Given the description of an element on the screen output the (x, y) to click on. 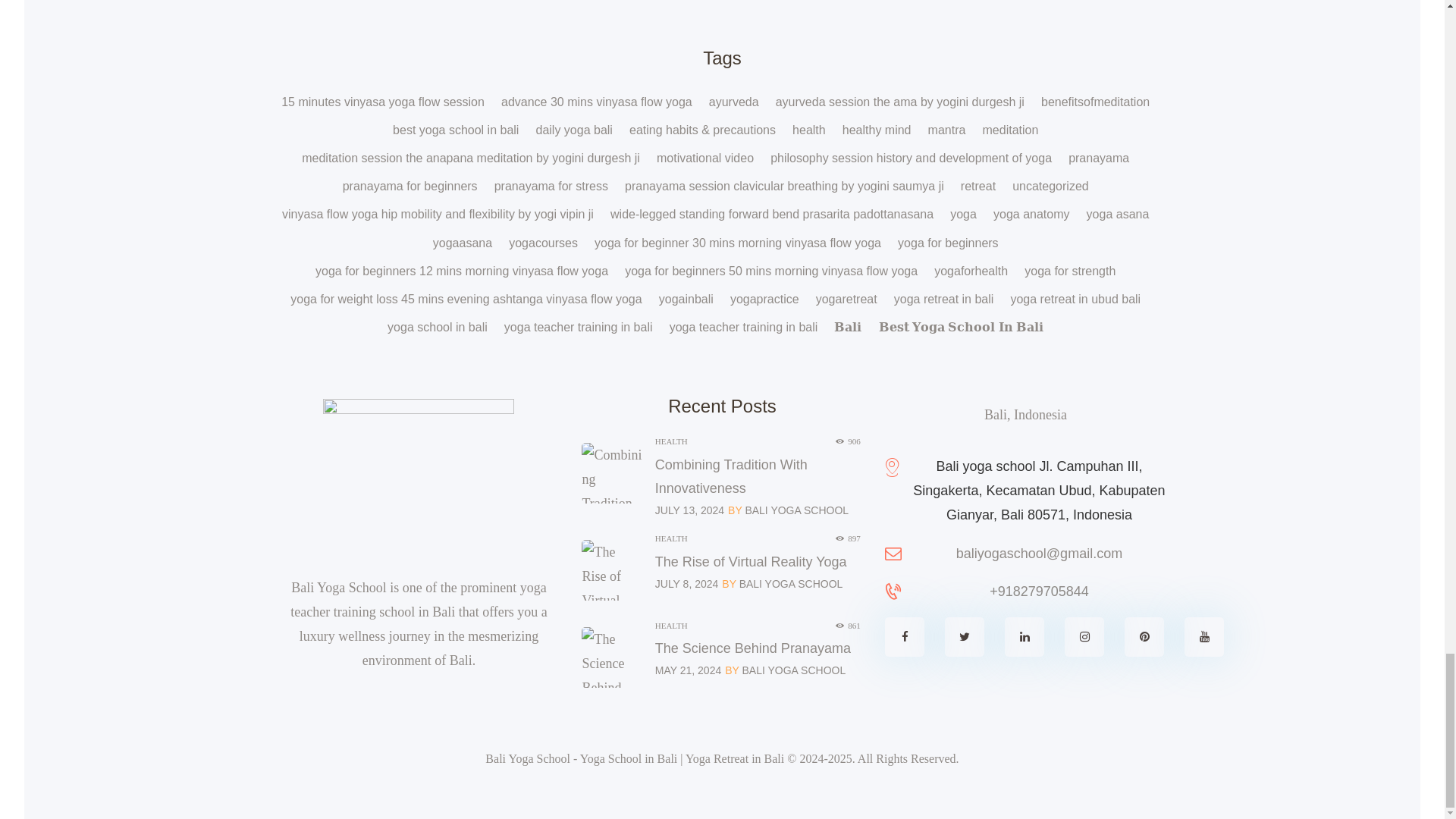
View all posts in Health (671, 440)
View all posts in Health (671, 537)
View all posts in Health (671, 624)
